Given the description of an element on the screen output the (x, y) to click on. 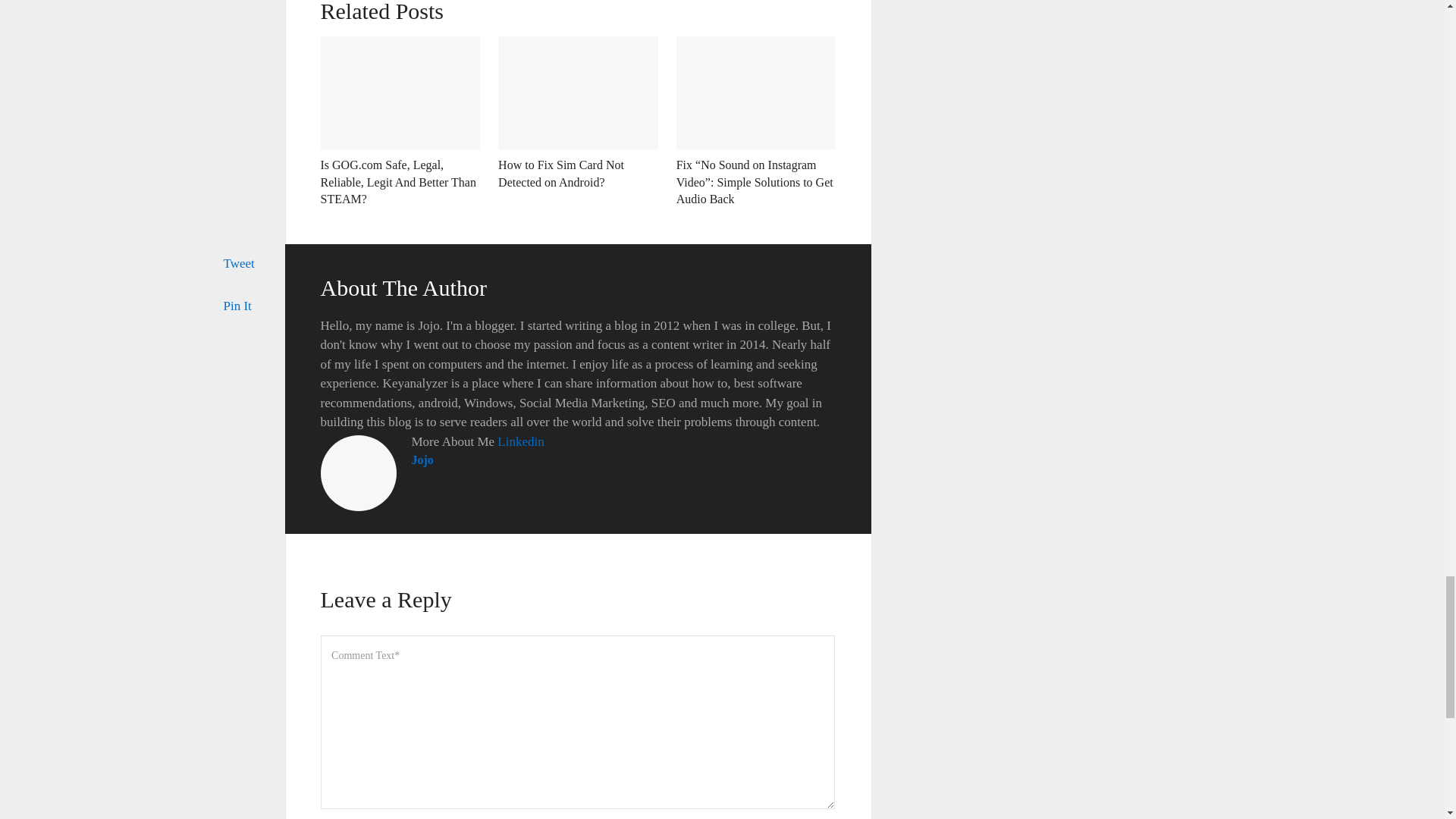
How to Fix Sim Card Not Detected on Android? (560, 173)
Linkedin (520, 441)
Jojo (421, 459)
